Given the description of an element on the screen output the (x, y) to click on. 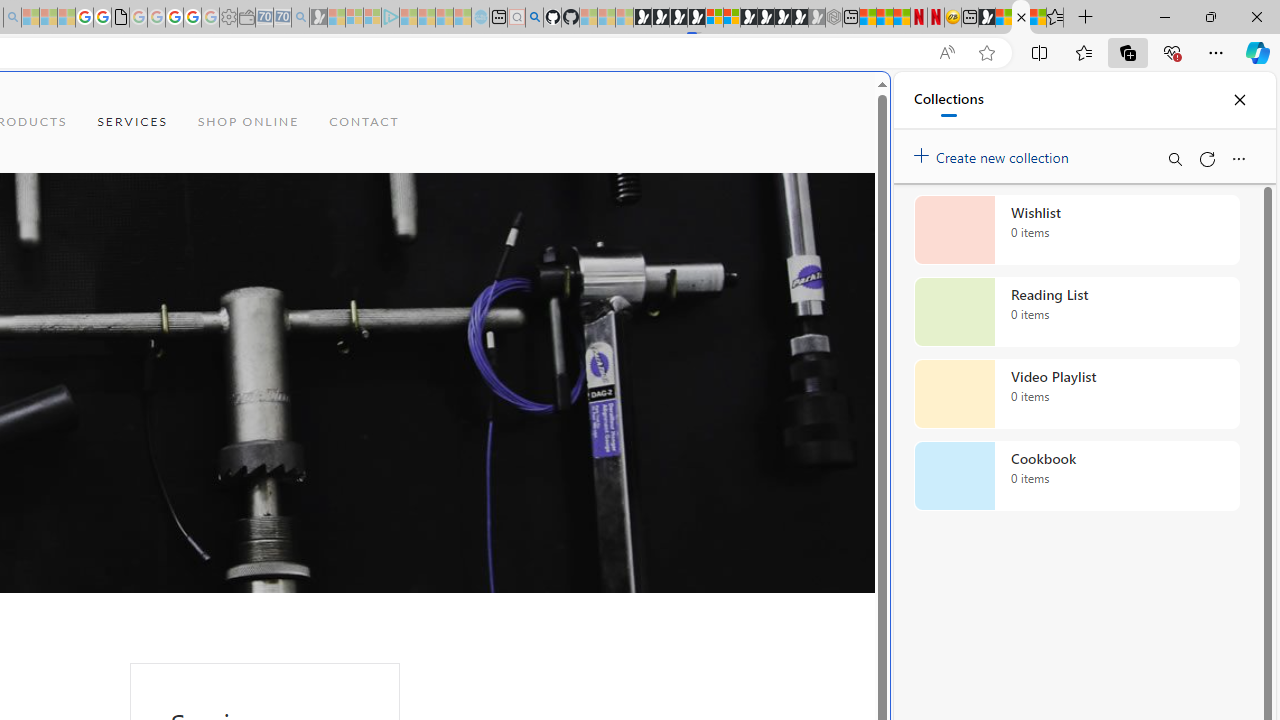
SERVICES (132, 122)
Wishlist collection, 0 items (1076, 229)
Services - Maintenance | Sky Blue Bikes - Sky Blue Bikes (1020, 17)
Tabs you've opened (276, 265)
CONTACT (363, 122)
Search or enter web address (343, 191)
